Given the description of an element on the screen output the (x, y) to click on. 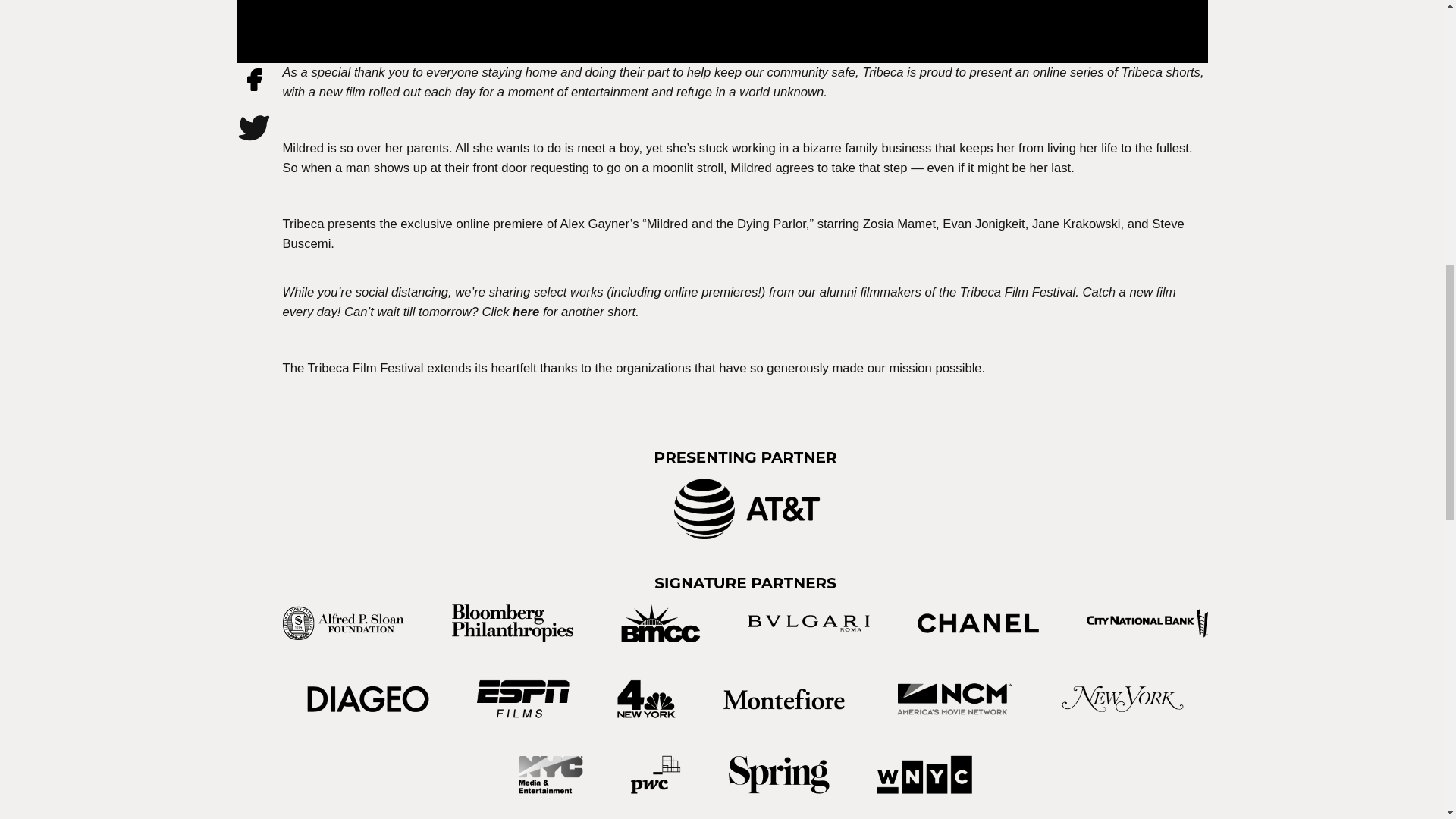
here (525, 311)
